Given the description of an element on the screen output the (x, y) to click on. 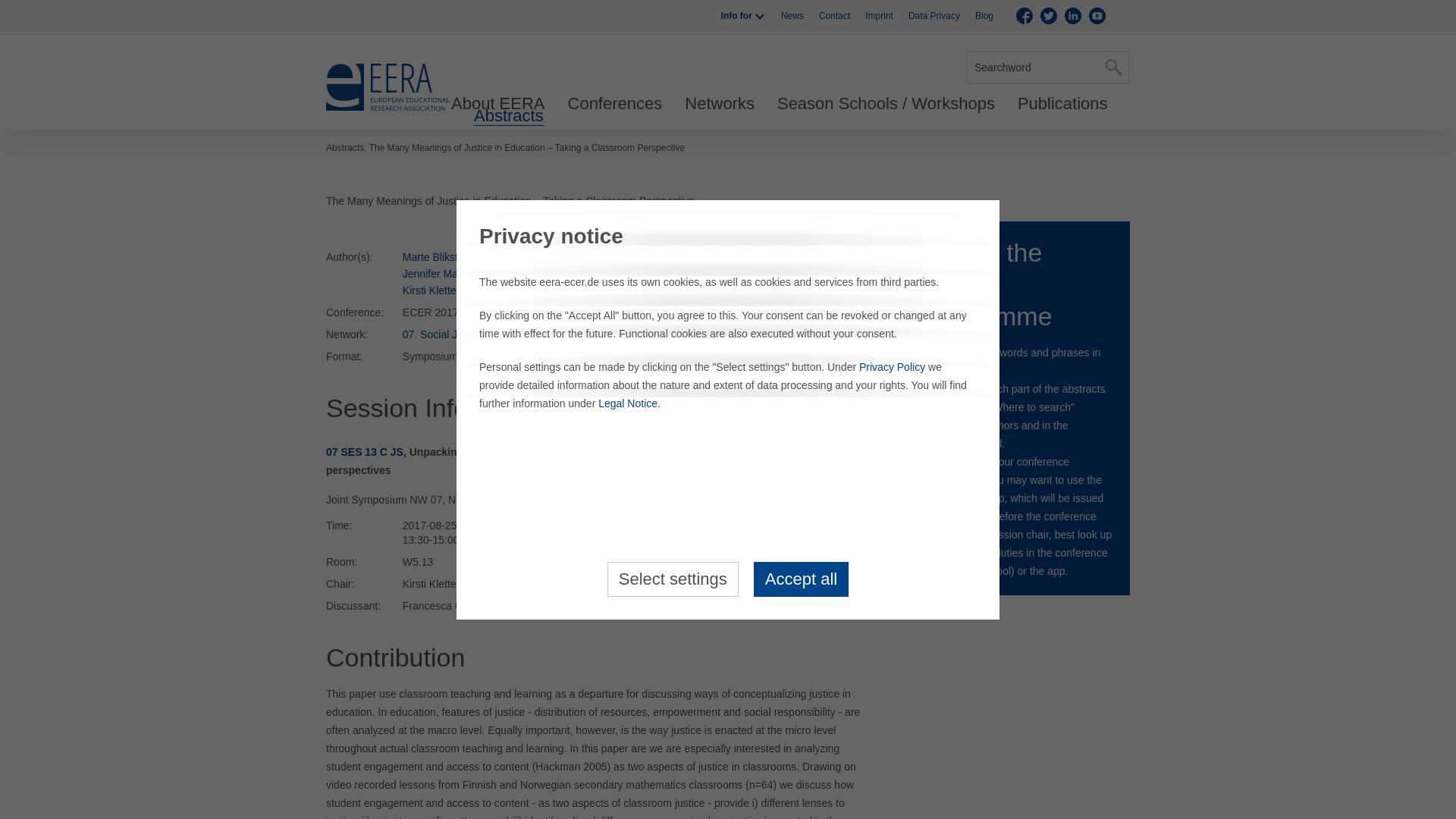
Accept all (801, 578)
About EERA (497, 103)
Legal Notice (628, 403)
Search (1113, 67)
Search (1113, 67)
News (791, 15)
YouTube (1097, 15)
Privacy Policy (891, 367)
Contact (833, 15)
Select settings (672, 578)
